Given the description of an element on the screen output the (x, y) to click on. 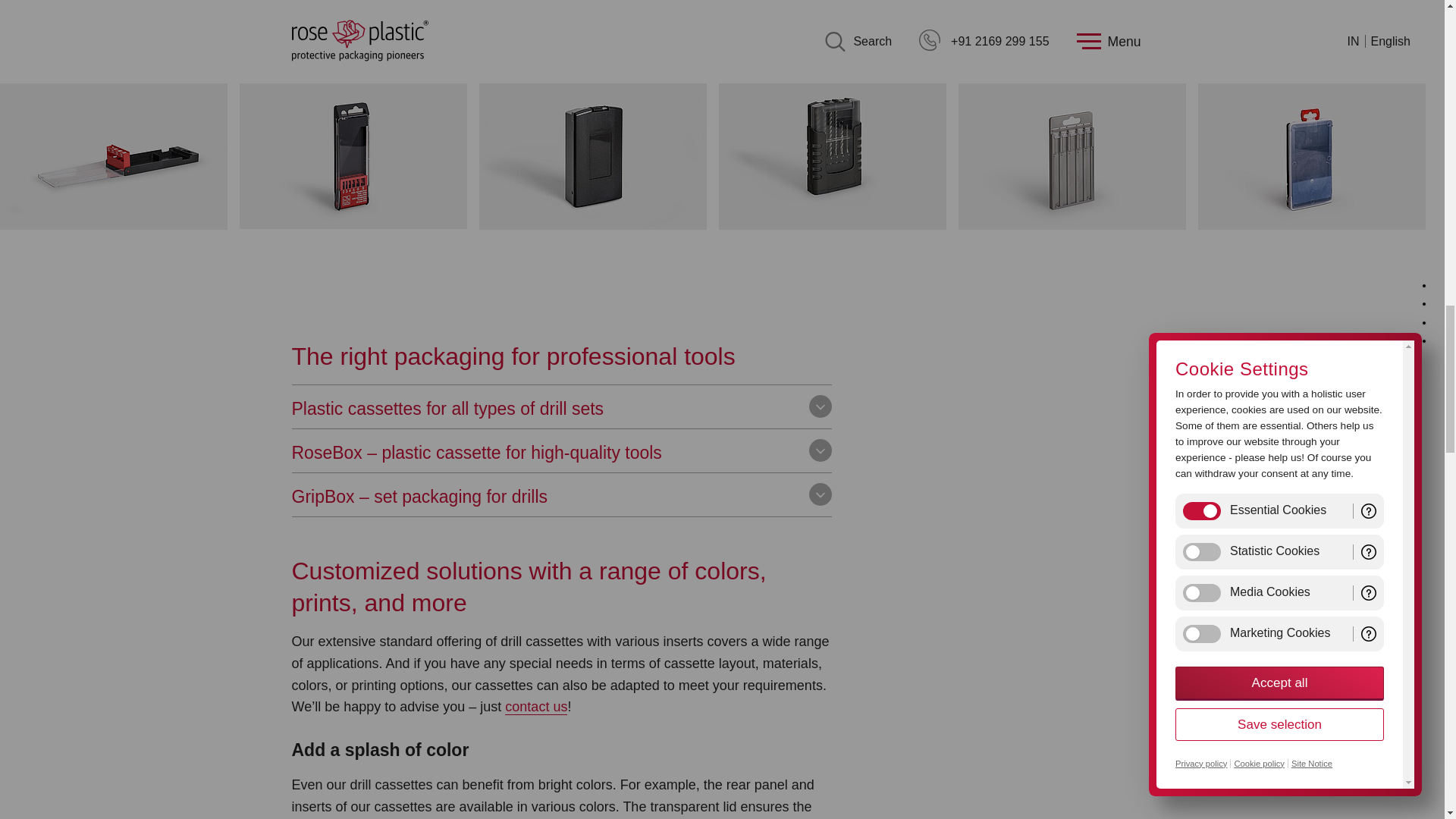
RoseBox (592, 225)
FB-Cassette (113, 149)
FNSB Cassettes (1072, 225)
FA-Cassette for drills (353, 148)
Cassette GripBox (832, 149)
GripBox (832, 225)
FN-Cassette (1072, 149)
Cassette RoseBox (592, 149)
FA Cassettes (353, 224)
FB Cassettes (113, 225)
